Given the description of an element on the screen output the (x, y) to click on. 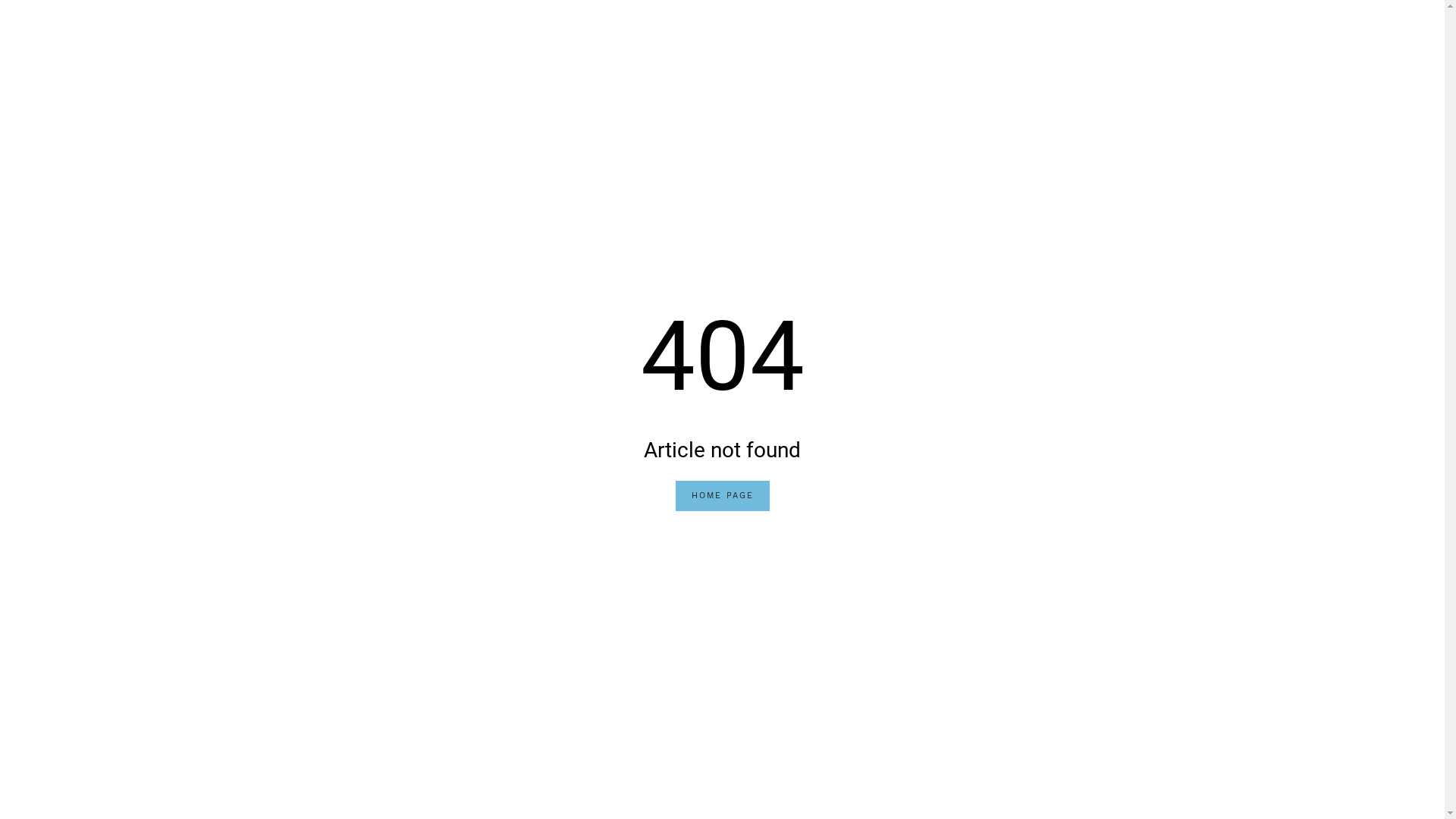
HOME PAGE Element type: text (721, 495)
